Given the description of an element on the screen output the (x, y) to click on. 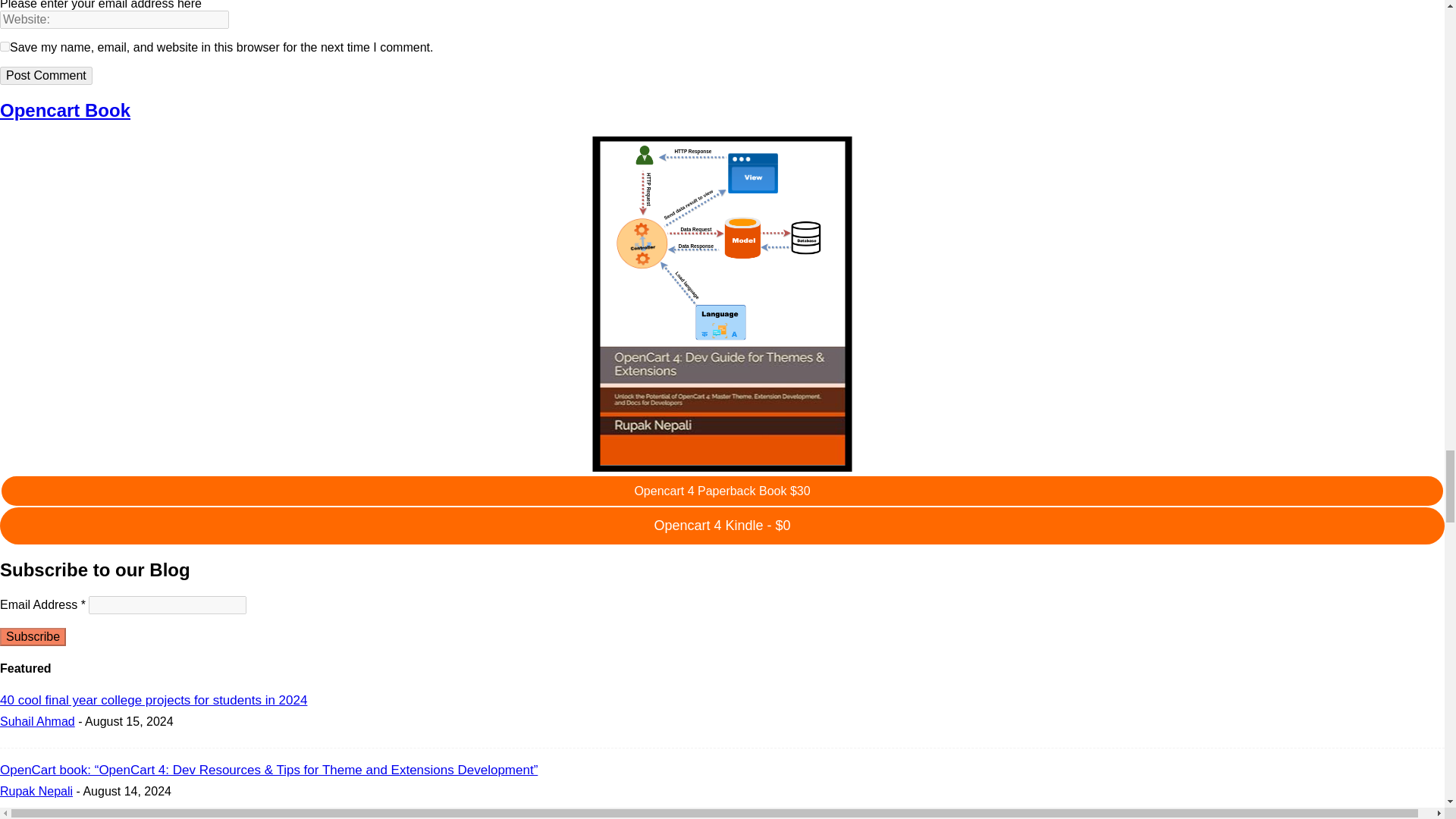
Post Comment (46, 75)
Subscribe (32, 637)
yes (5, 46)
